Given the description of an element on the screen output the (x, y) to click on. 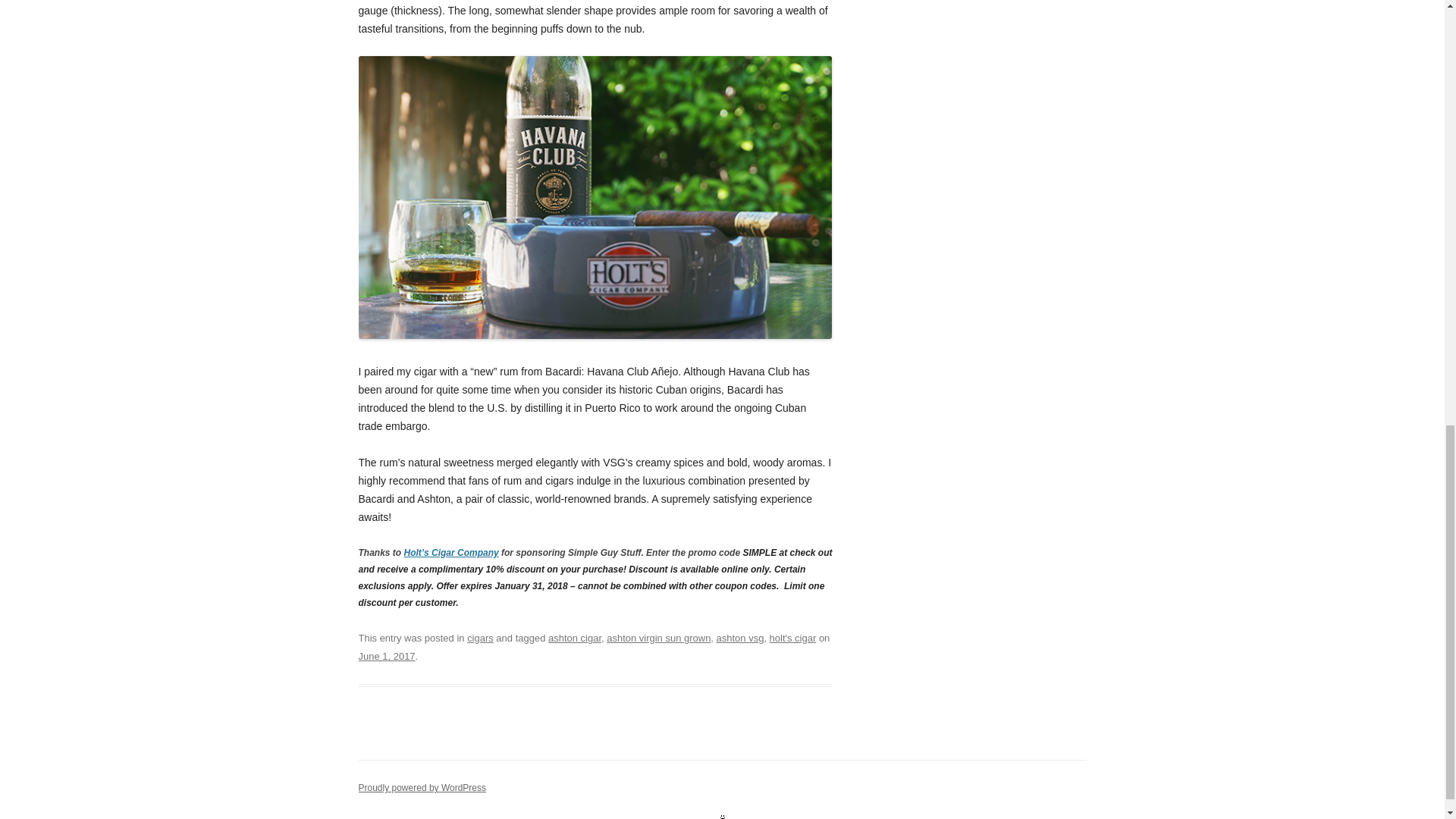
11:29 am (386, 655)
Semantic Personal Publishing Platform (422, 787)
June 1, 2017 (386, 655)
cigars (480, 637)
ashton cigar (574, 637)
Proudly powered by WordPress (422, 787)
ashton virgin sun grown (658, 637)
holt's cigar (793, 637)
ashton vsg (740, 637)
